Given the description of an element on the screen output the (x, y) to click on. 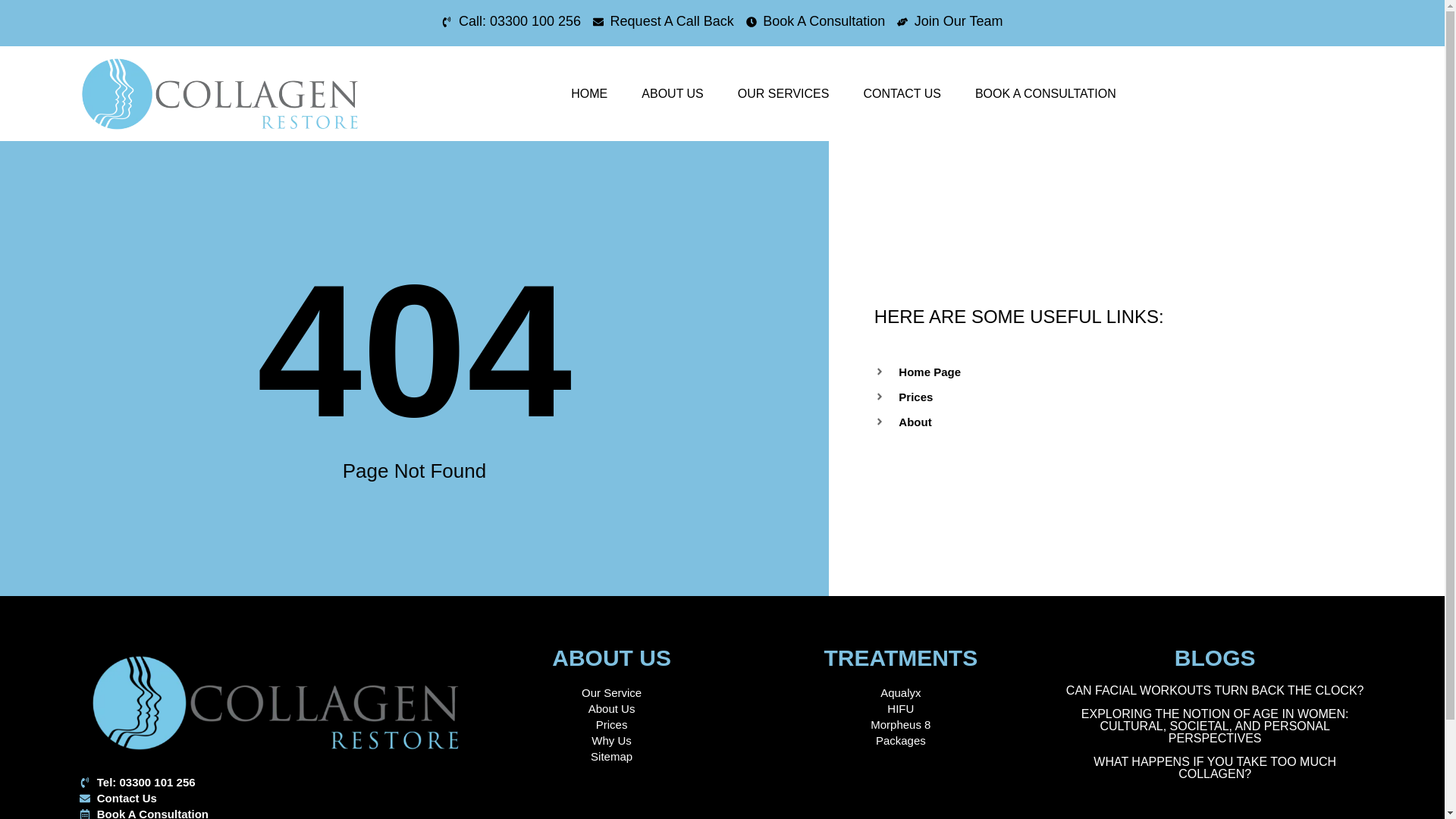
Request A Call Back (662, 21)
About Us (611, 708)
Book A Consultation (815, 21)
OUR SERVICES (783, 93)
Prices (1148, 396)
Join Our Team (949, 21)
Contact Us (275, 797)
ABOUT US (672, 93)
About (1148, 421)
Tel: 03300 101 256 (275, 781)
BOOK A CONSULTATION (1045, 93)
Book A Consultation (275, 812)
Call: 03300 100 256 (510, 21)
Home Page (1148, 371)
CONTACT US (901, 93)
